Given the description of an element on the screen output the (x, y) to click on. 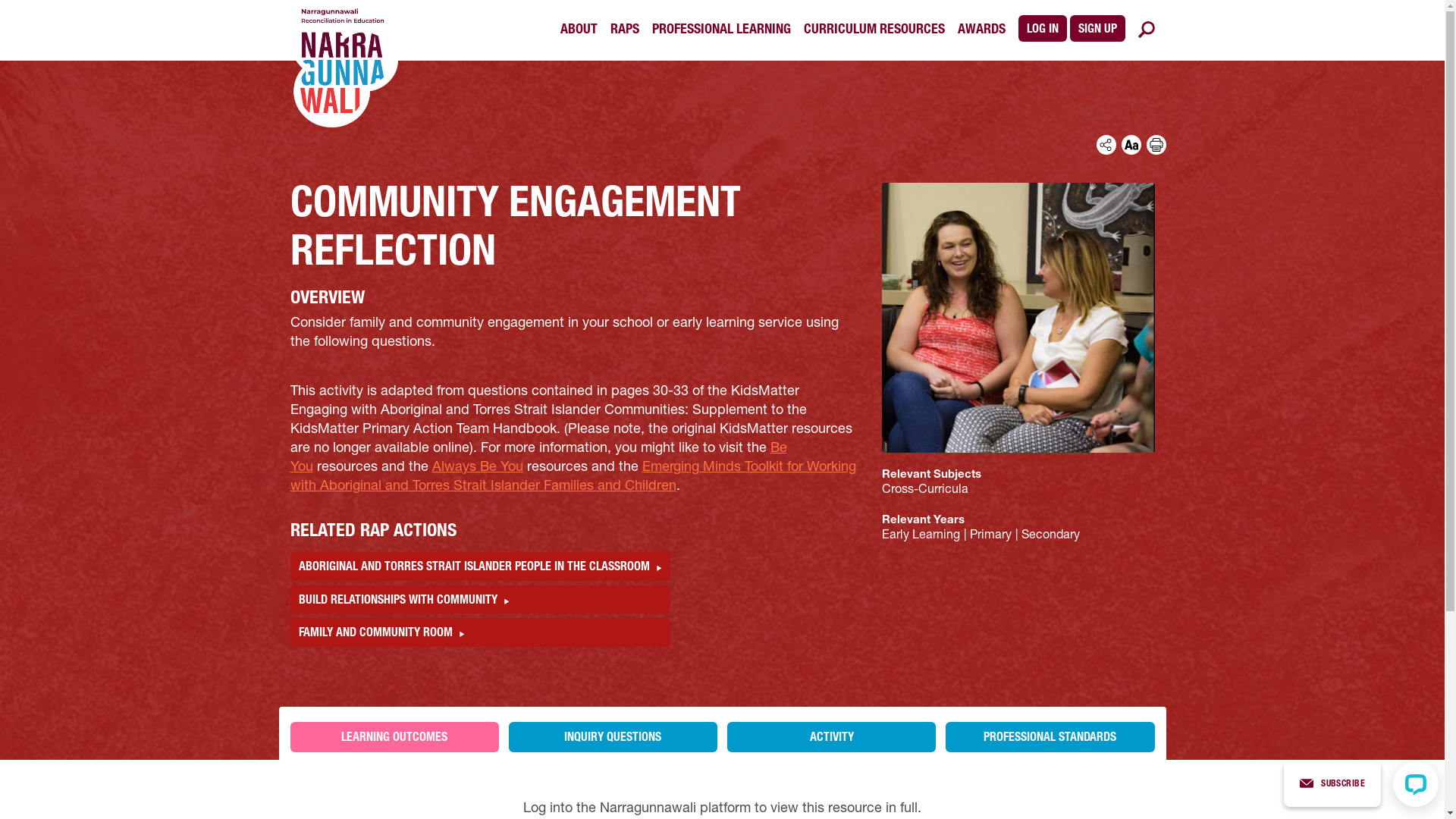
LOG IN Element type: text (1041, 28)
PROFESSIONAL STANDARDS Element type: text (1049, 736)
INQUIRY QUESTIONS Element type: text (612, 736)
LEARNING OUTCOMES Element type: text (393, 736)
BUILD RELATIONSHIPS WITH COMMUNITY Element type: text (479, 599)
FAMILY AND COMMUNITY ROOM Element type: text (479, 632)
SIGN UP Element type: text (1096, 28)
ABOUT Element type: text (577, 30)
AWARDS Element type: text (980, 30)
RAPS Element type: text (623, 30)
CURRICULUM RESOURCES Element type: text (873, 30)
PROFESSIONAL LEARNING Element type: text (721, 30)
Always Be You Element type: text (477, 467)
ACTIVITY Element type: text (831, 736)
Be You Element type: text (537, 458)
